Given the description of an element on the screen output the (x, y) to click on. 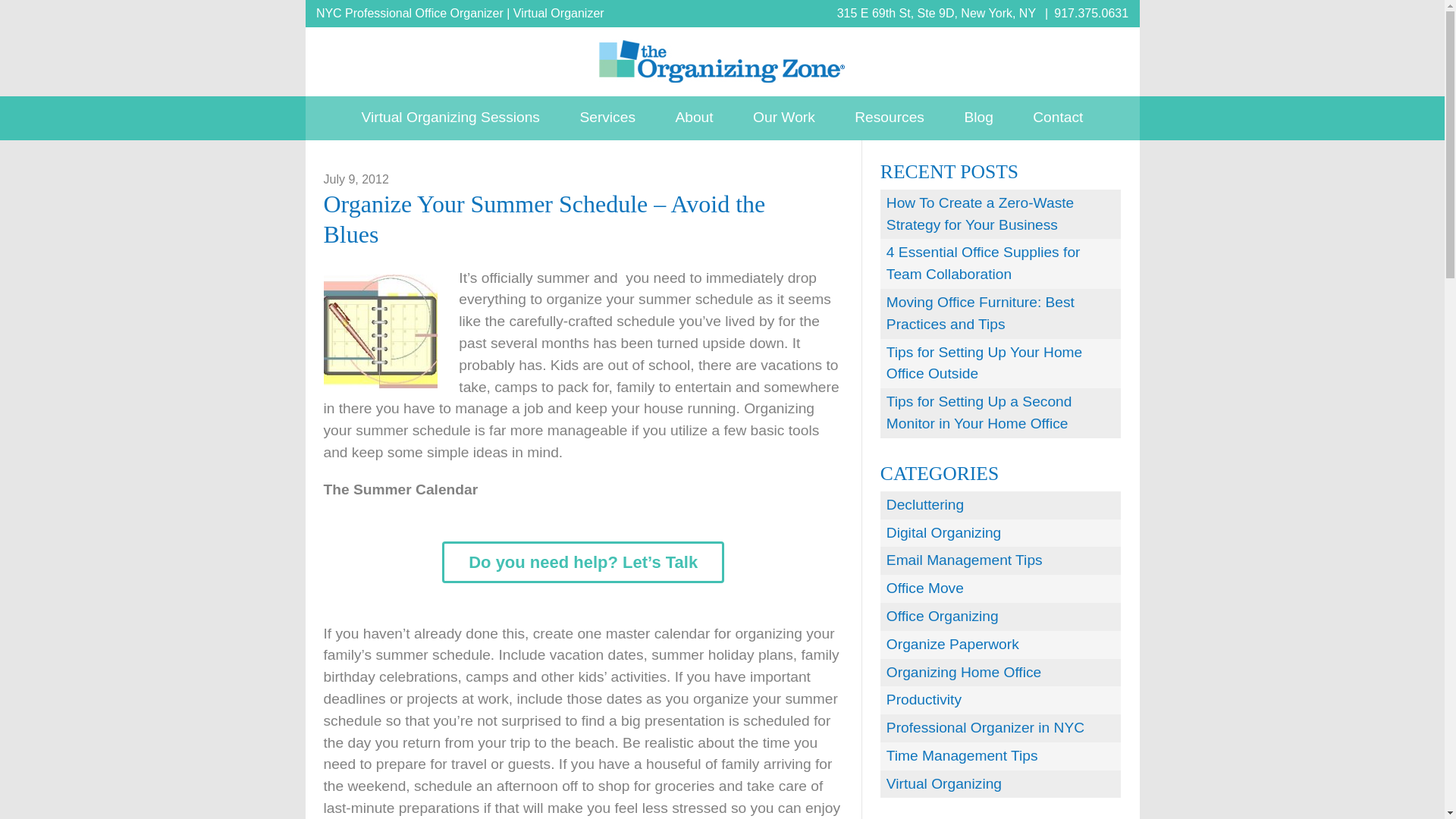
Resources (888, 118)
Contact (1057, 118)
Our Work (783, 118)
Blog (977, 118)
Virtual Organizing Sessions (450, 118)
Summer Schedule (379, 331)
Services (606, 118)
About (693, 118)
917.375.0631 (1091, 12)
